Given the description of an element on the screen output the (x, y) to click on. 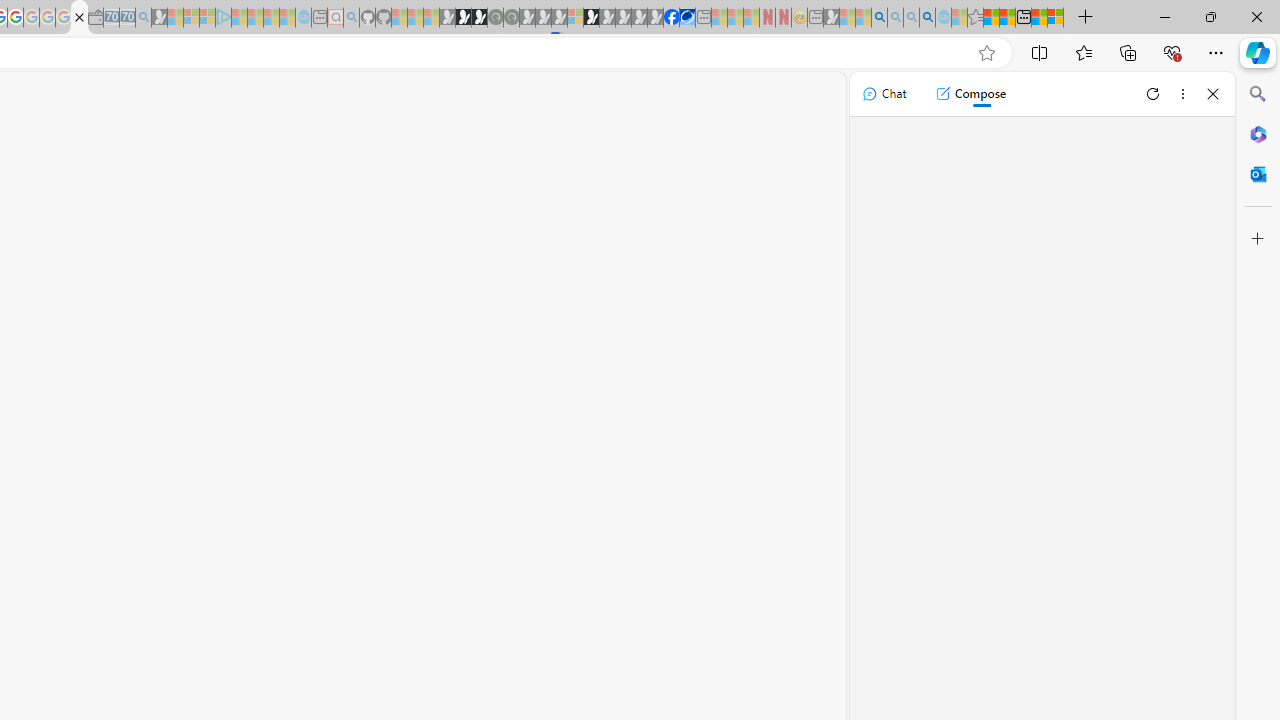
Wallet - Sleeping (95, 17)
Compose (970, 93)
Bing AI - Search (879, 17)
Google Chrome Internet Browser Download - Search Images (927, 17)
